Given the description of an element on the screen output the (x, y) to click on. 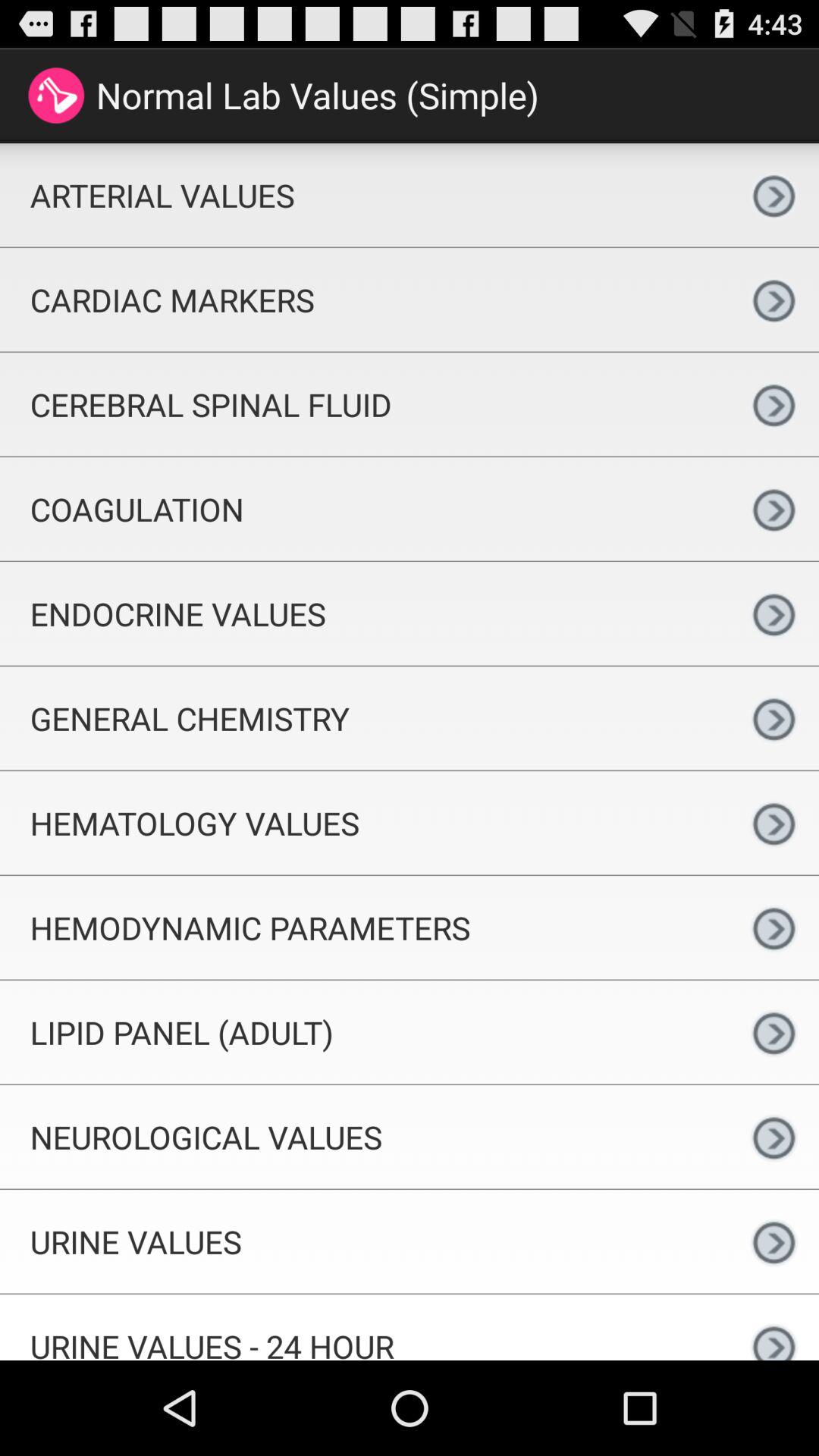
scroll to neurological values icon (364, 1136)
